Given the description of an element on the screen output the (x, y) to click on. 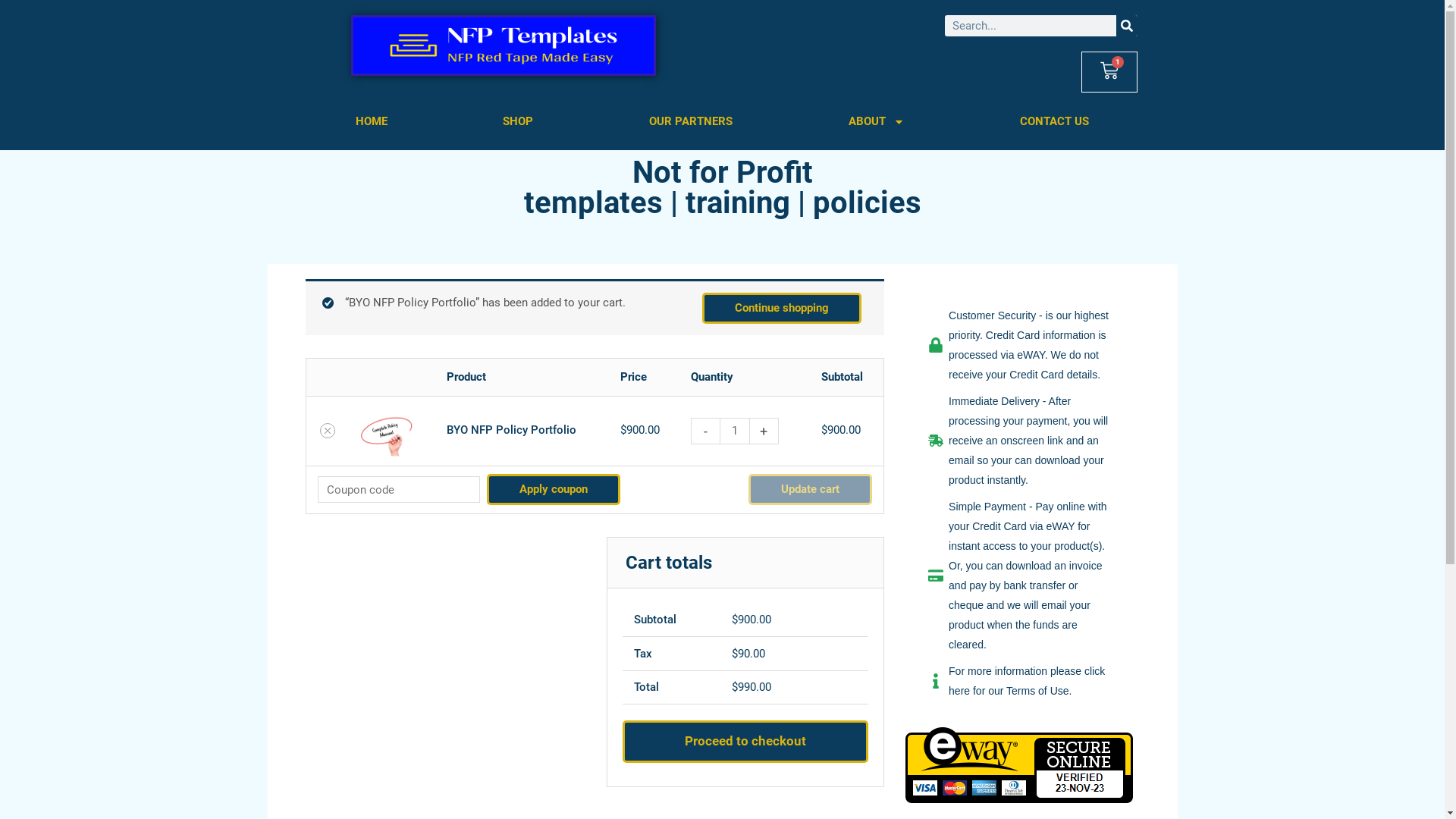
Apply coupon Element type: text (553, 489)
Not for Profit
templates | training | policies Element type: text (721, 187)
Update cart Element type: text (810, 489)
1
Cart Element type: text (1109, 71)
Search Element type: text (1126, 25)
CONTACT US Element type: text (1054, 121)
OUR PARTNERS Element type: text (690, 121)
BYO NFP Policy Portfolio Element type: text (511, 429)
eWAY Payment Gateway Element type: hover (1018, 764)
Continue shopping Element type: text (781, 307)
ABOUT Element type: text (876, 121)
HOME Element type: text (371, 121)
+ Element type: text (763, 430)
Proceed to checkout Element type: text (745, 741)
- Element type: text (704, 430)
For more information please click here for our Terms of Use. Element type: text (1018, 680)
SHOP Element type: text (518, 121)
